Given the description of an element on the screen output the (x, y) to click on. 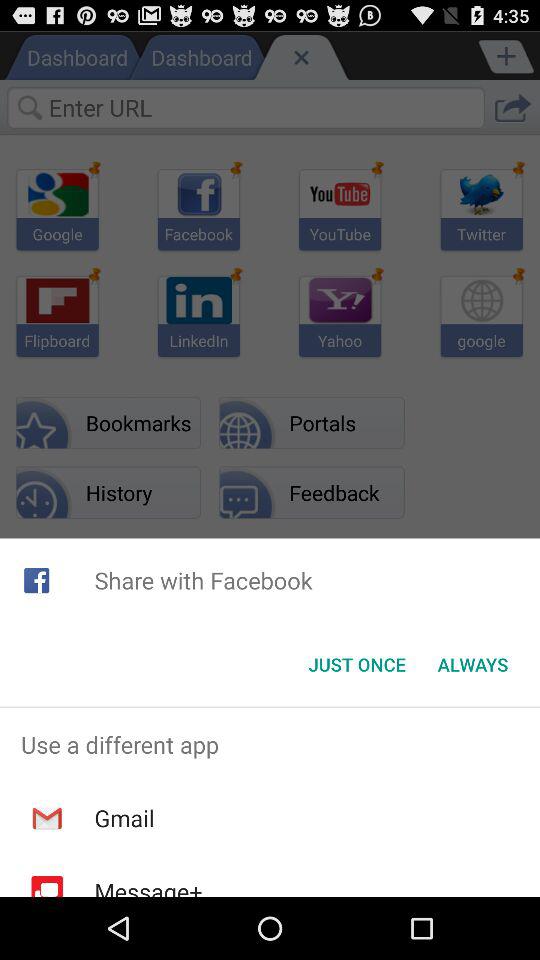
open always icon (472, 664)
